Given the description of an element on the screen output the (x, y) to click on. 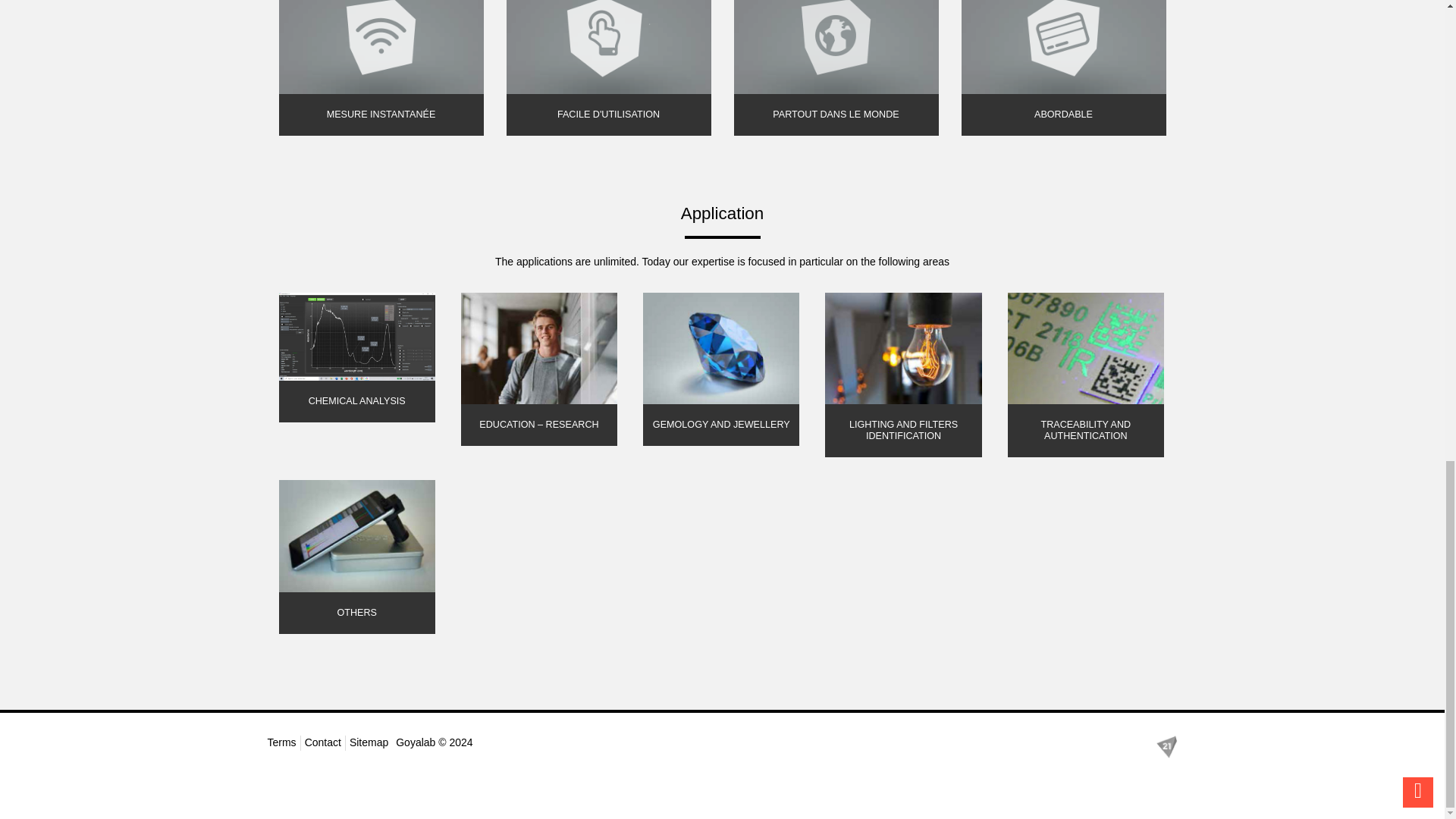
Gemology and Jewellery (720, 373)
Lighting and filters identification (902, 379)
Others (355, 560)
Chemical analysis (355, 360)
Traceability and authentication (1084, 379)
